Given the description of an element on the screen output the (x, y) to click on. 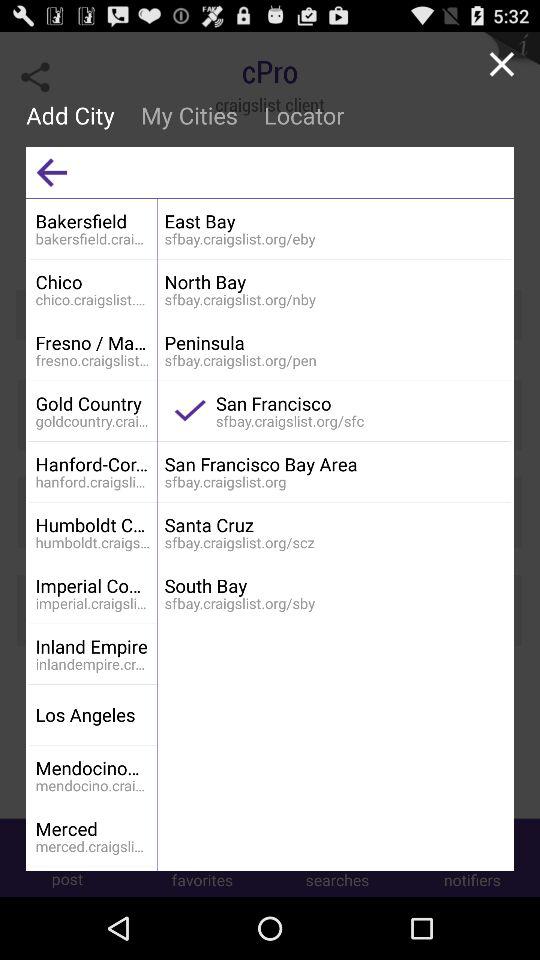
turn on app above hanford-corcoran (92, 403)
